Given the description of an element on the screen output the (x, y) to click on. 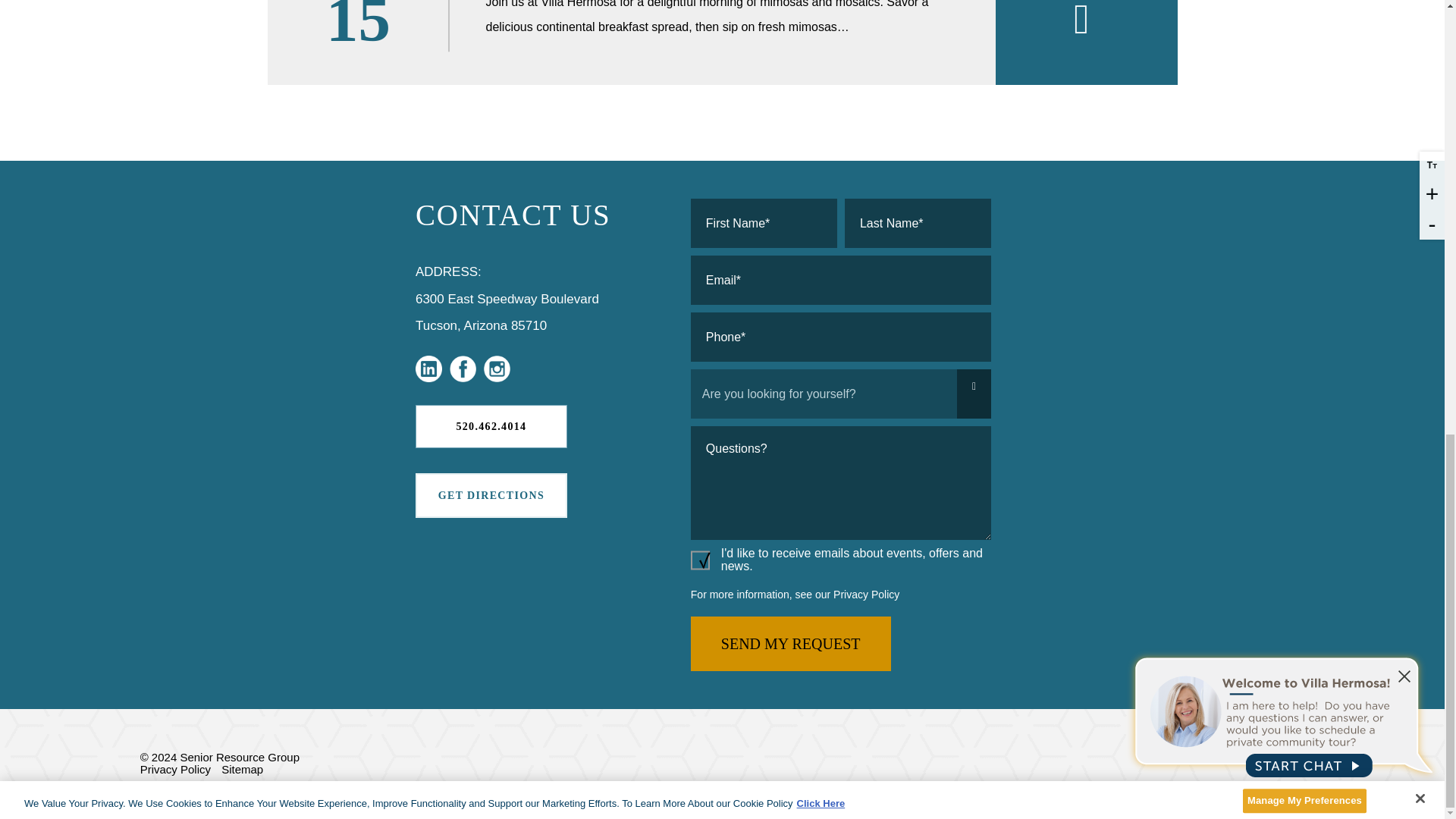
Send My Request (790, 643)
